Given the description of an element on the screen output the (x, y) to click on. 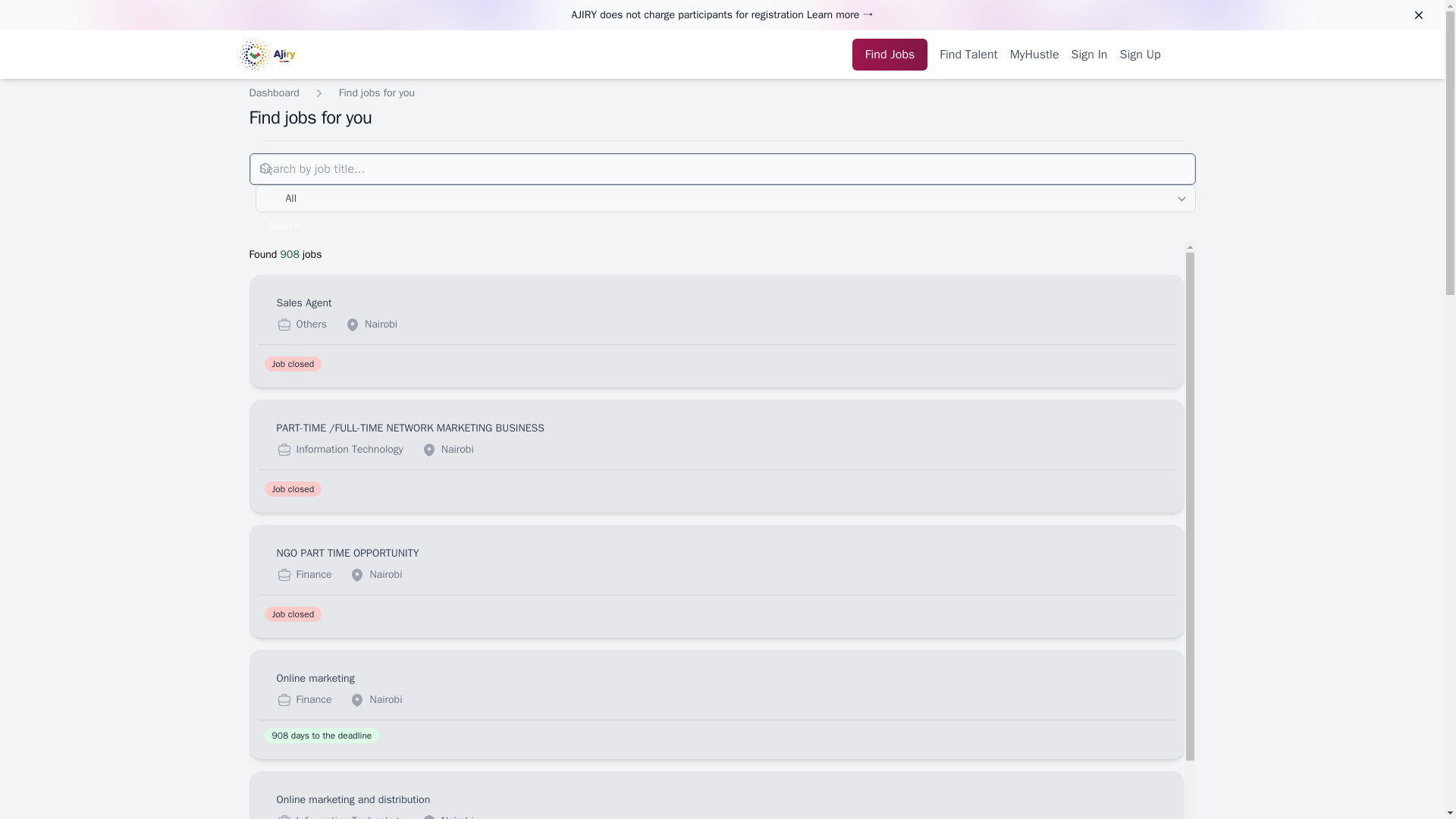
Sign Up (1139, 54)
Find Talent (968, 54)
Dismiss (1418, 15)
Search (283, 226)
MyHustle (1034, 54)
Find jobs for you (715, 330)
Sign In (376, 92)
Find Jobs (1089, 54)
